Given the description of an element on the screen output the (x, y) to click on. 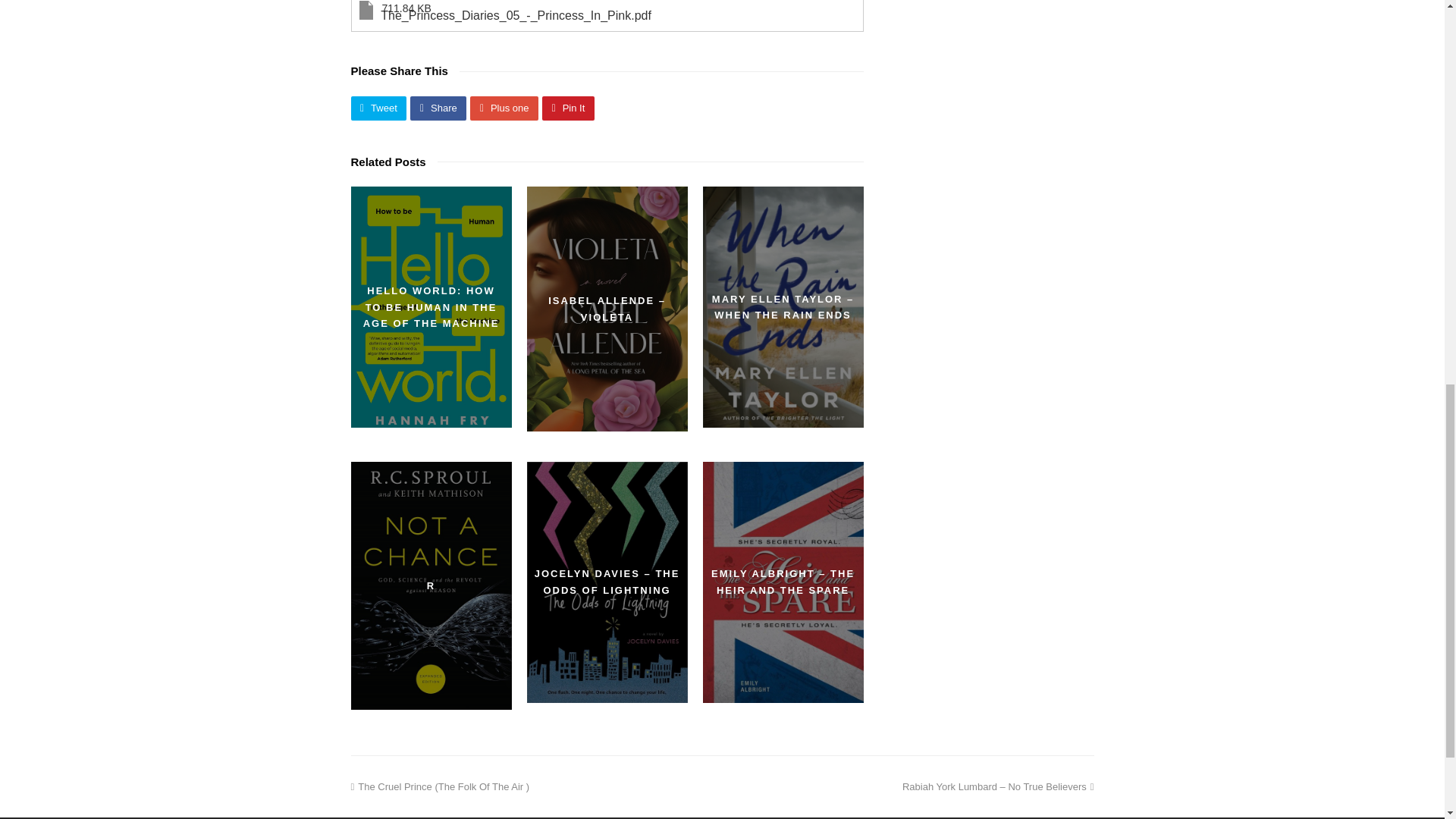
Plus one (504, 107)
Pin It (567, 107)
Share on Facebook (437, 107)
Share on Twitter (378, 107)
Share on Pinterest (567, 107)
Share (437, 107)
Tweet (378, 107)
